Given the description of an element on the screen output the (x, y) to click on. 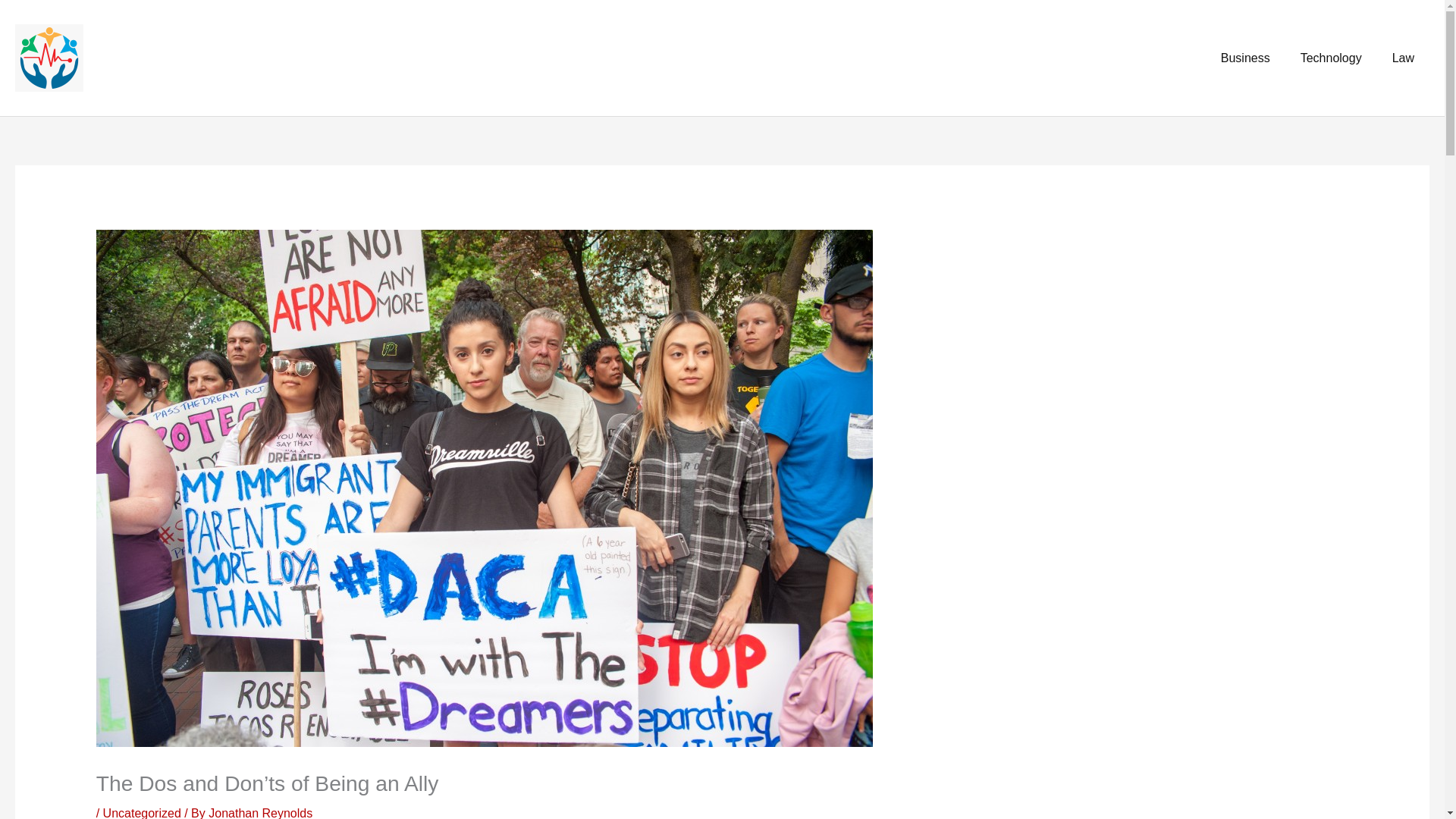
Technology (1331, 57)
Uncategorized (141, 812)
Law (1403, 57)
Jonathan Reynolds (260, 812)
View all posts by Jonathan Reynolds (260, 812)
Business (1245, 57)
